Given the description of an element on the screen output the (x, y) to click on. 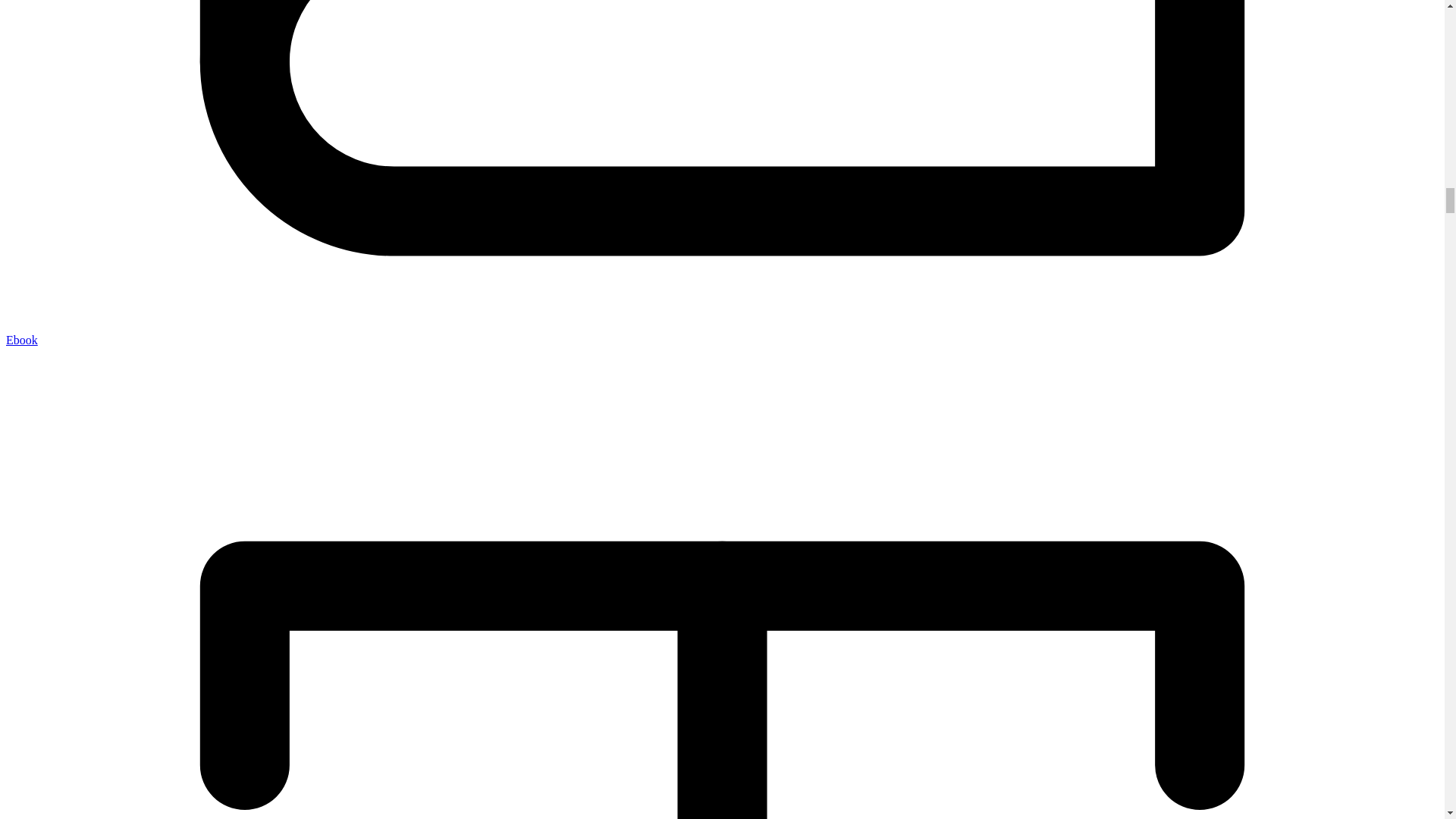
Ebook (21, 339)
